Given the description of an element on the screen output the (x, y) to click on. 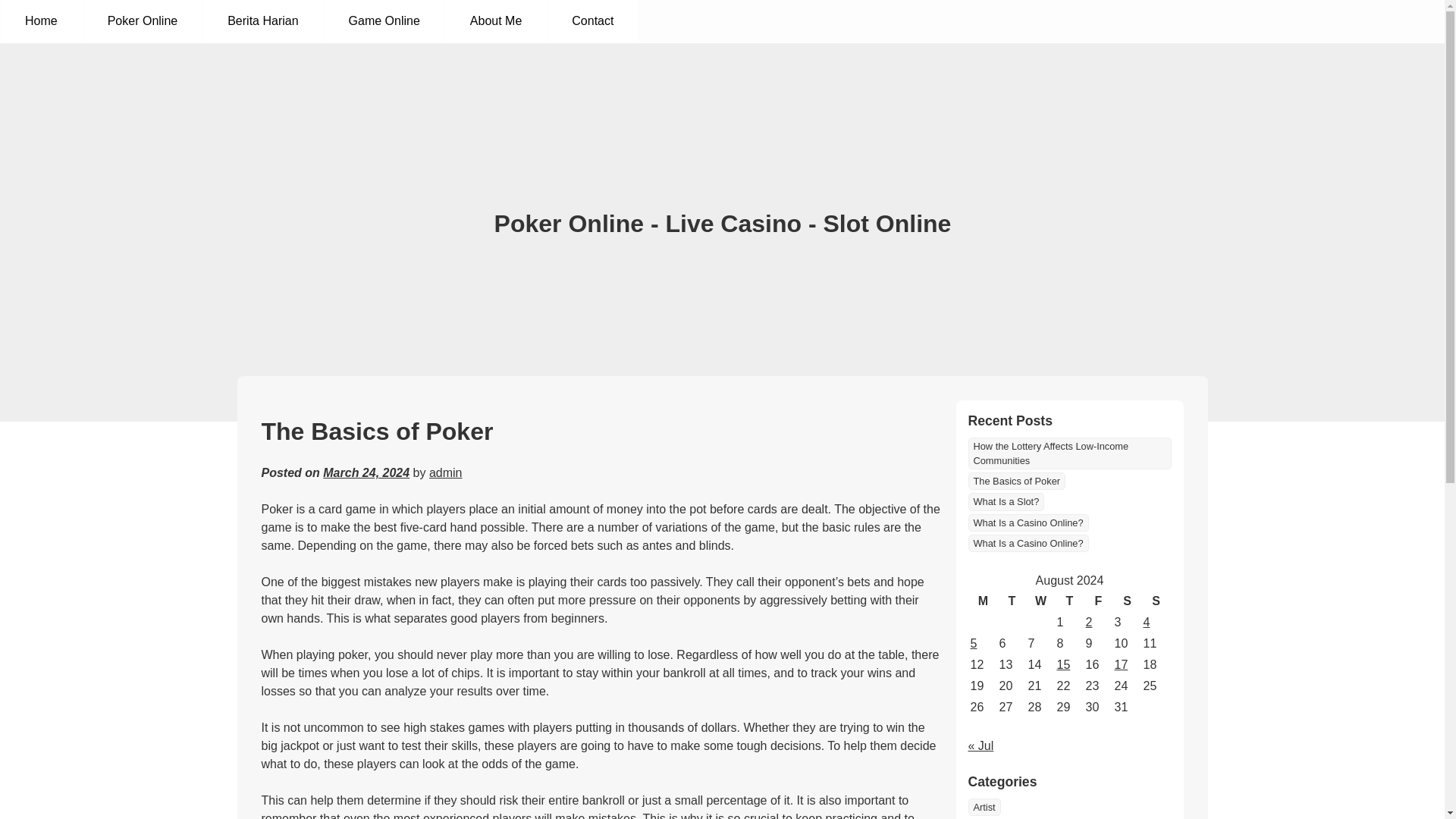
Thursday (1069, 600)
17 (1121, 664)
About Me (495, 21)
Berita Harian (262, 21)
Monday (982, 600)
March 24, 2024 (366, 472)
Wednesday (1040, 600)
The Basics of Poker (1016, 480)
Home (41, 21)
Contact (592, 21)
